Given the description of an element on the screen output the (x, y) to click on. 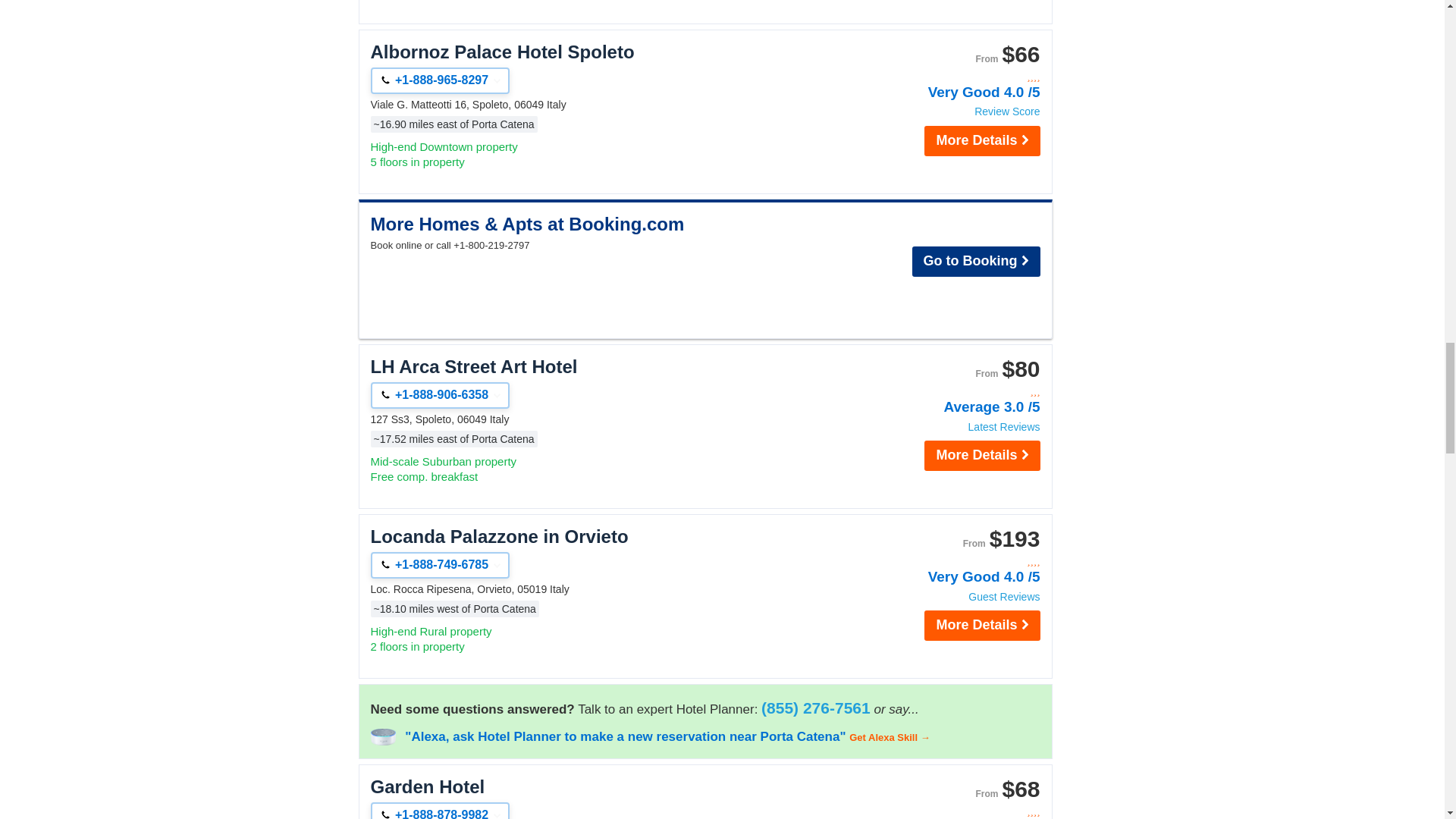
4 stars (958, 76)
3 stars (958, 391)
4 stars (958, 561)
4 stars (958, 811)
